Given the description of an element on the screen output the (x, y) to click on. 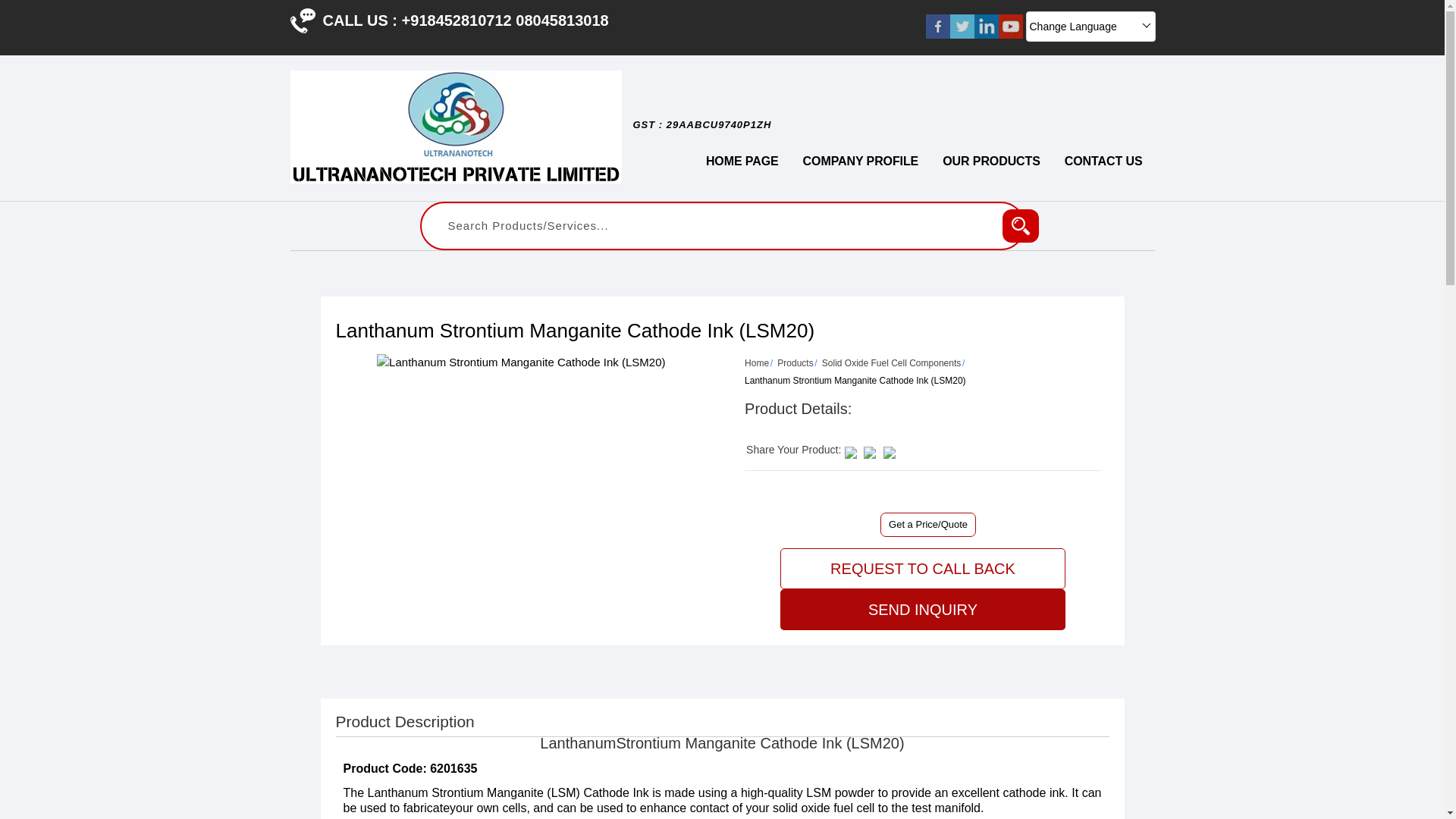
Search (1021, 225)
HOME PAGE (742, 161)
OUR PRODUCTS (991, 161)
Call Us (301, 20)
Twitter (961, 33)
LinkedIn (985, 33)
COMPANY PROFILE (860, 161)
submit (1021, 225)
GST : 29AABCU9740P1ZH (702, 131)
Facebook (936, 33)
You Tube (1009, 33)
